Given the description of an element on the screen output the (x, y) to click on. 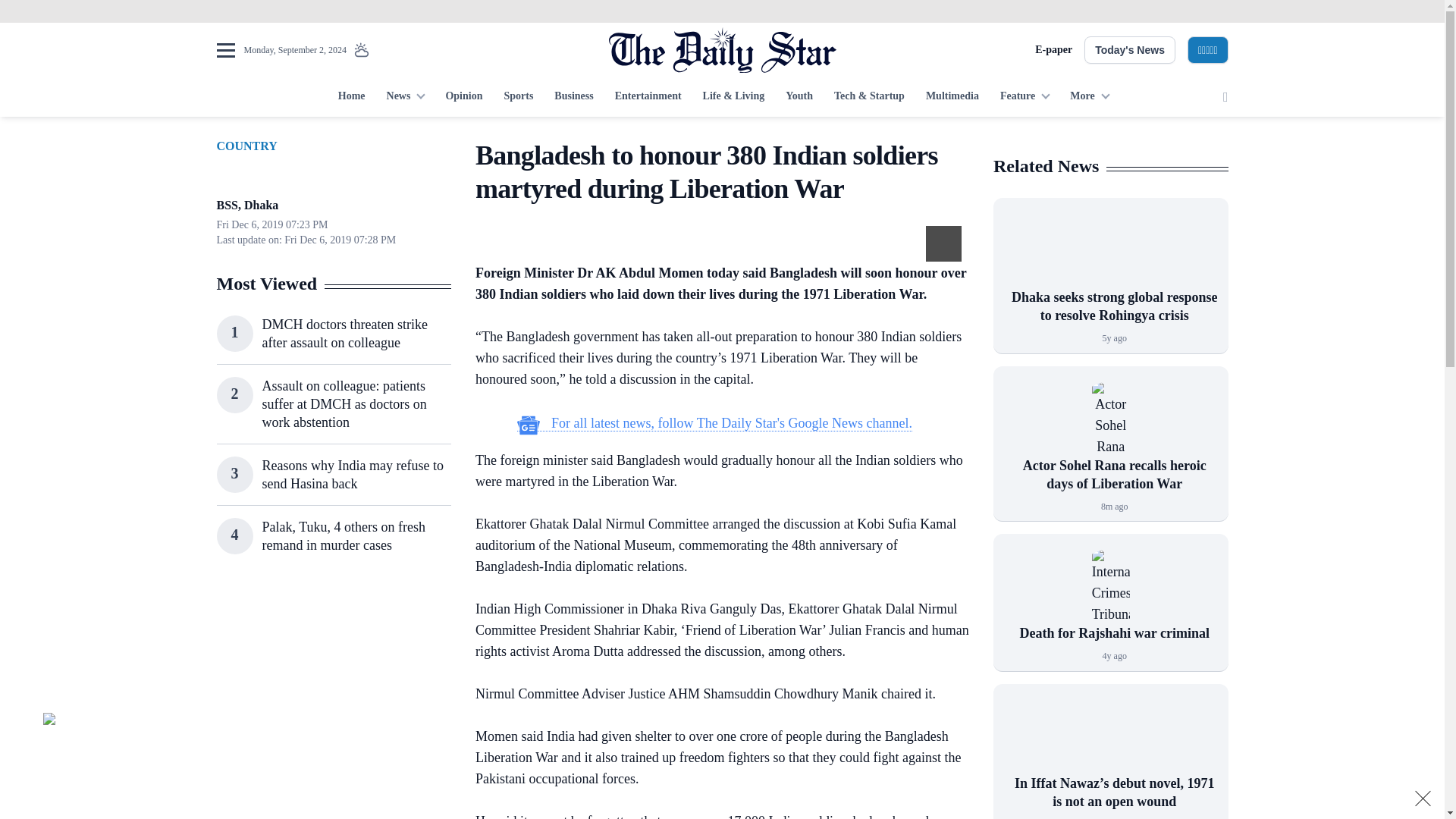
Entertainment (647, 96)
Youth (799, 96)
Actor Sohel Rana recalls heroic days of Liberation War (1110, 419)
Multimedia (952, 96)
Home (351, 96)
E-paper (1053, 49)
International Crimes Tribunal (1110, 586)
Sports (518, 96)
Opinion (463, 96)
